Given the description of an element on the screen output the (x, y) to click on. 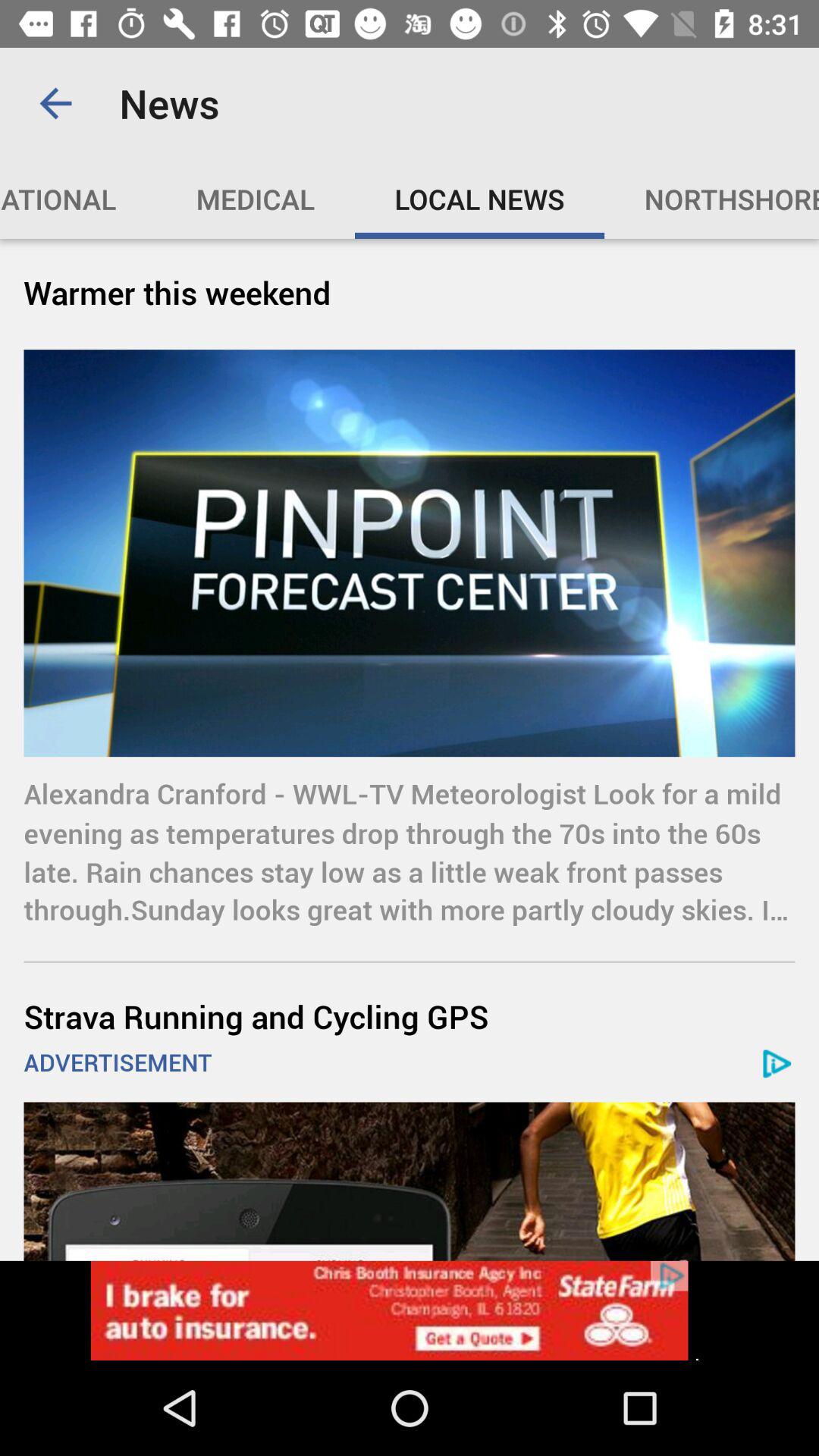
choose icon below alexandra cranford wwl (409, 1015)
